Given the description of an element on the screen output the (x, y) to click on. 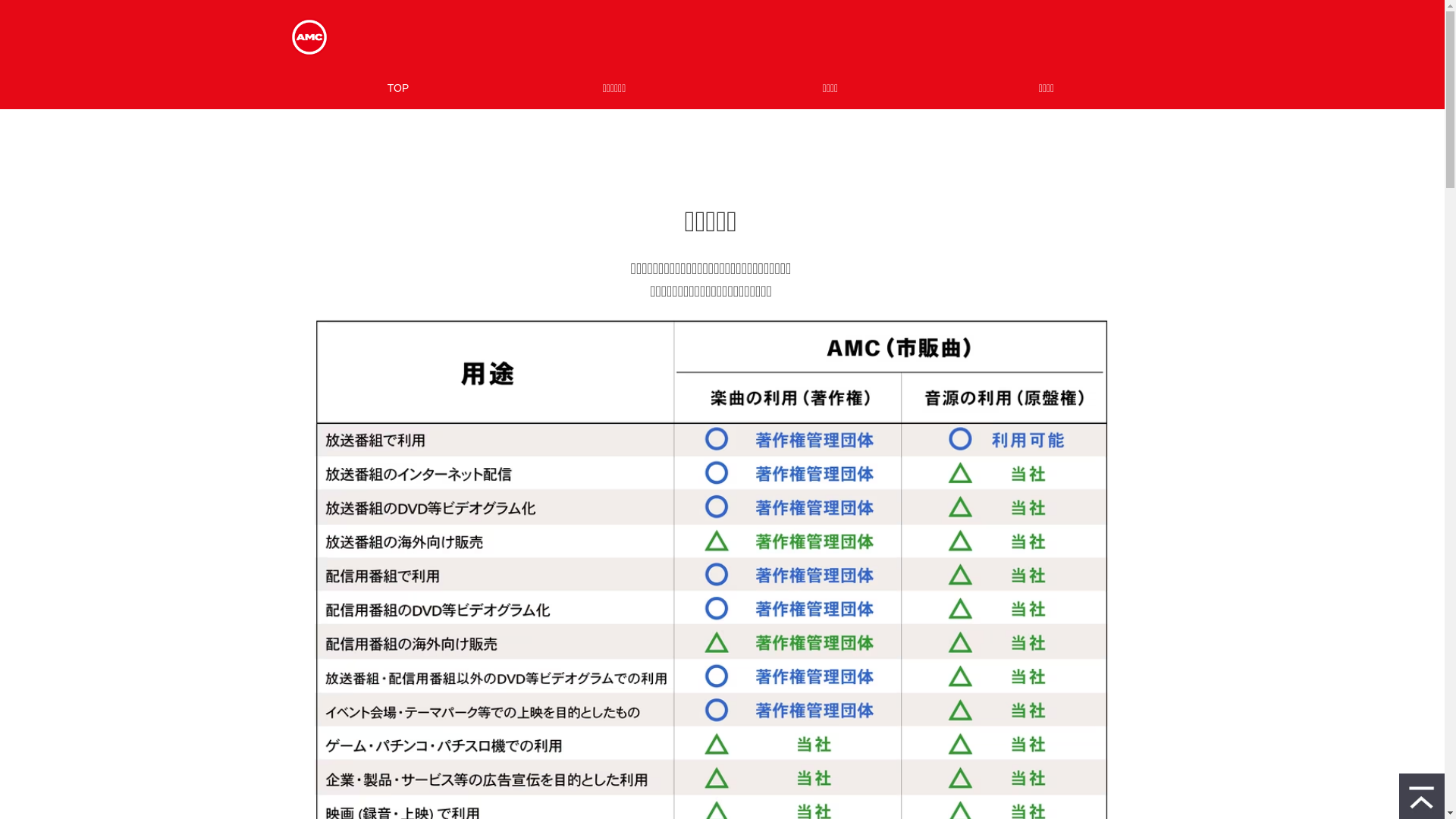
TOP Element type: text (397, 87)
